Given the description of an element on the screen output the (x, y) to click on. 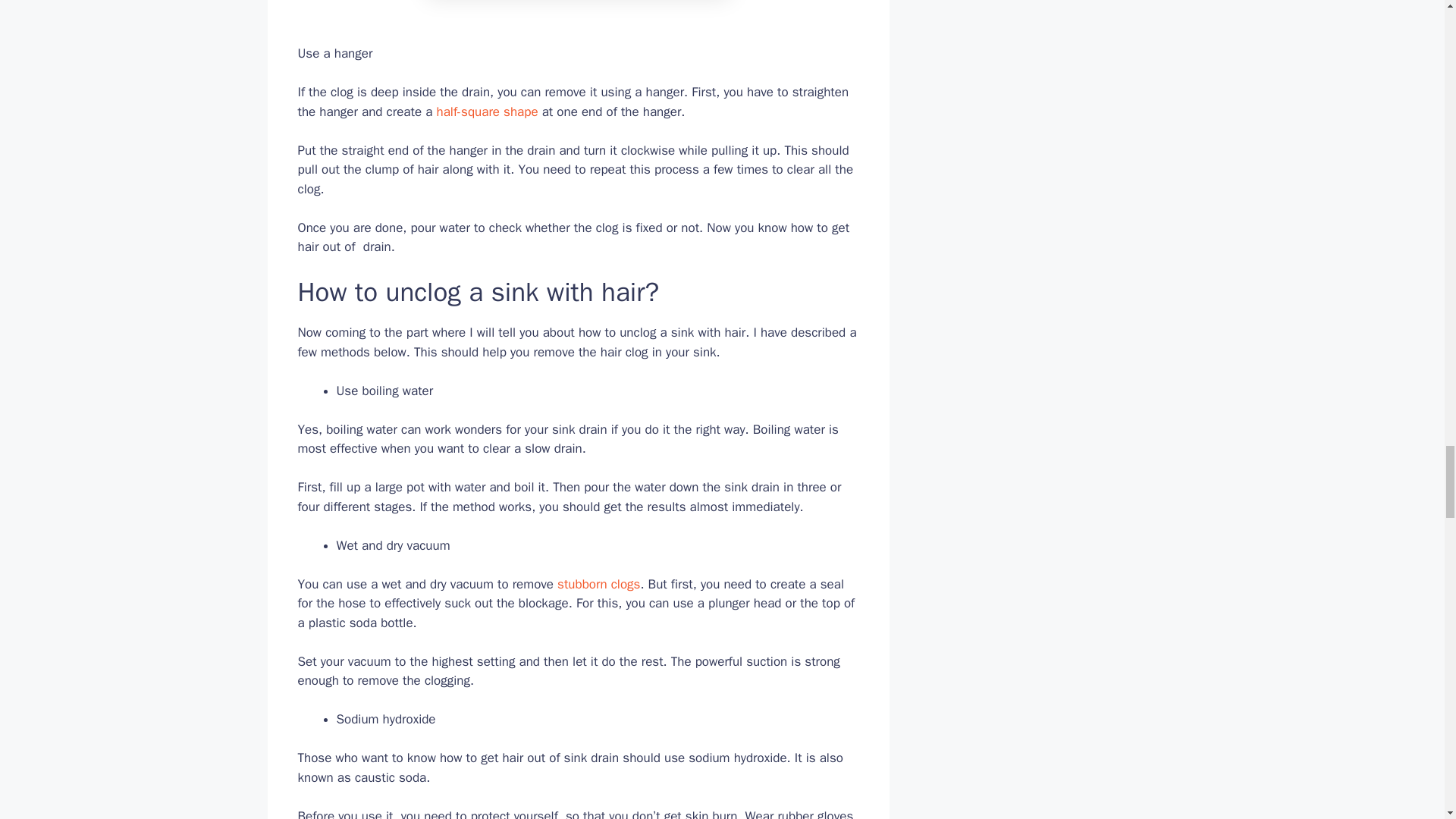
stubborn clogs (598, 584)
half-square shape (486, 111)
